Given the description of an element on the screen output the (x, y) to click on. 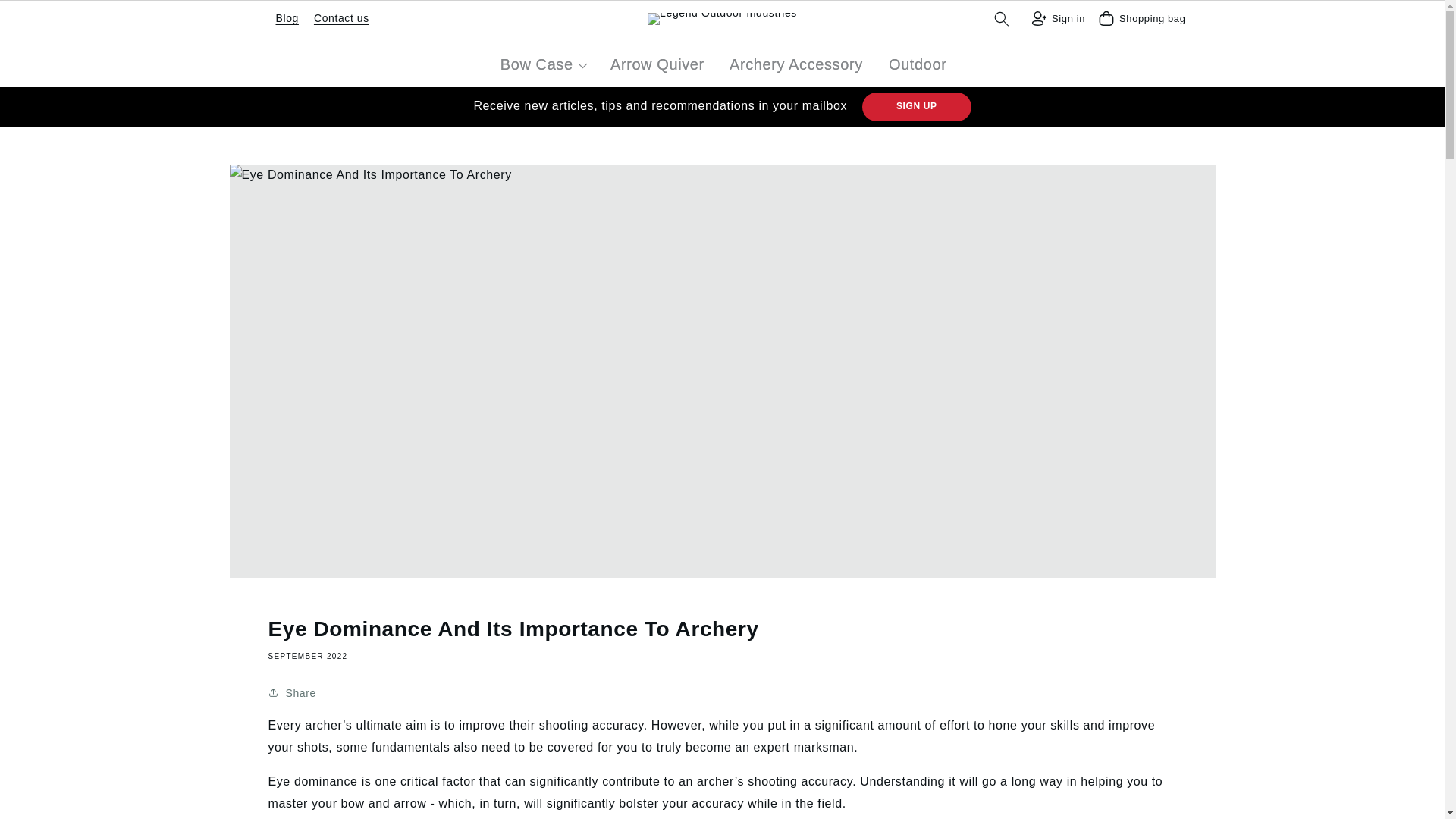
SKIP TO CONTENT (85, 18)
Contact us (341, 17)
